Given the description of an element on the screen output the (x, y) to click on. 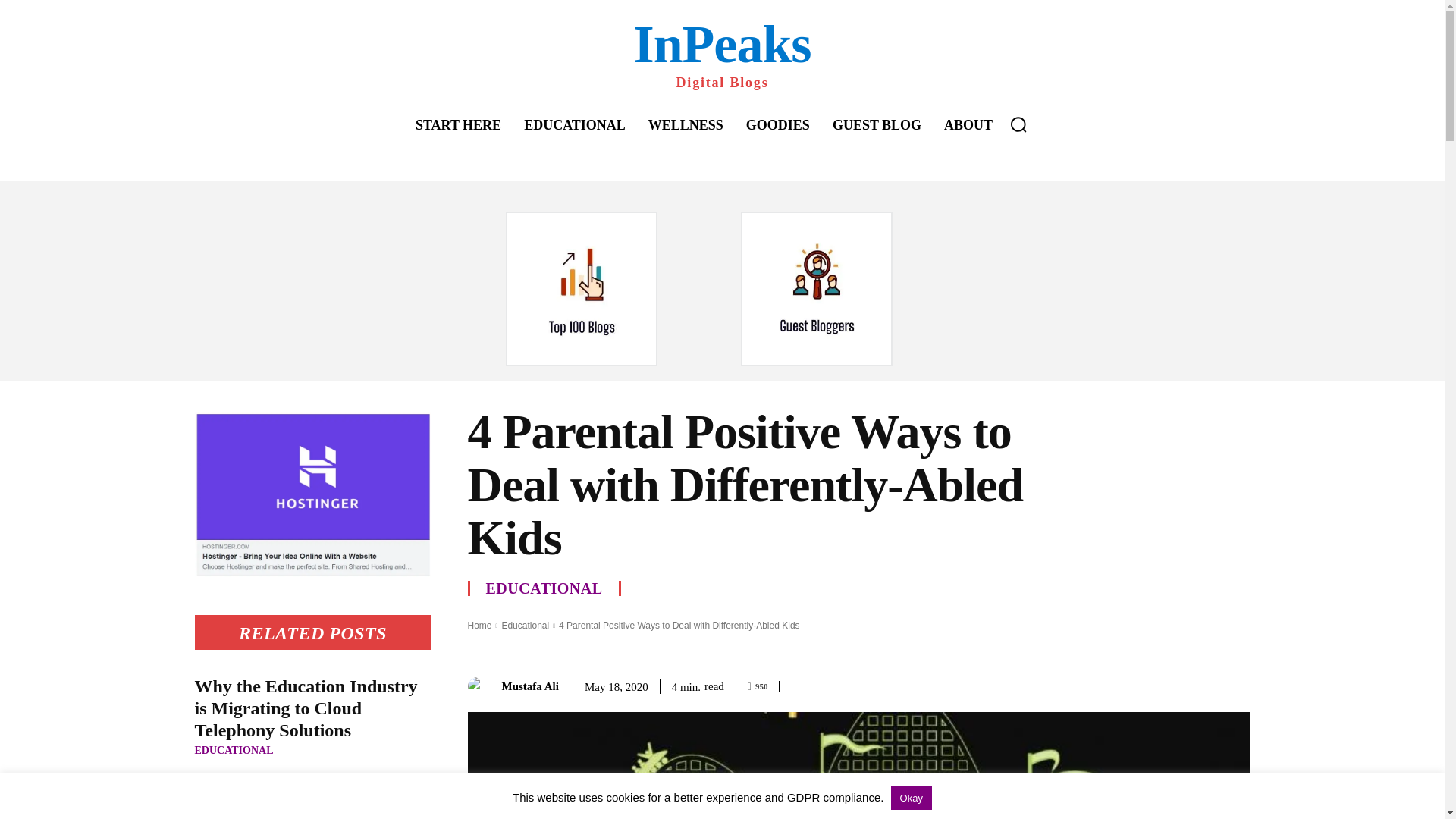
START HERE (457, 125)
Top Tips for a Smooth Move-In Experience for New Home Owners (307, 800)
Hostinger referral (311, 494)
EDUCATIONAL (543, 588)
GUEST BLOG (876, 125)
GOODIES (777, 125)
ABOUT (968, 125)
Mustafa Ali (480, 686)
EDUCATIONAL (233, 750)
